Given the description of an element on the screen output the (x, y) to click on. 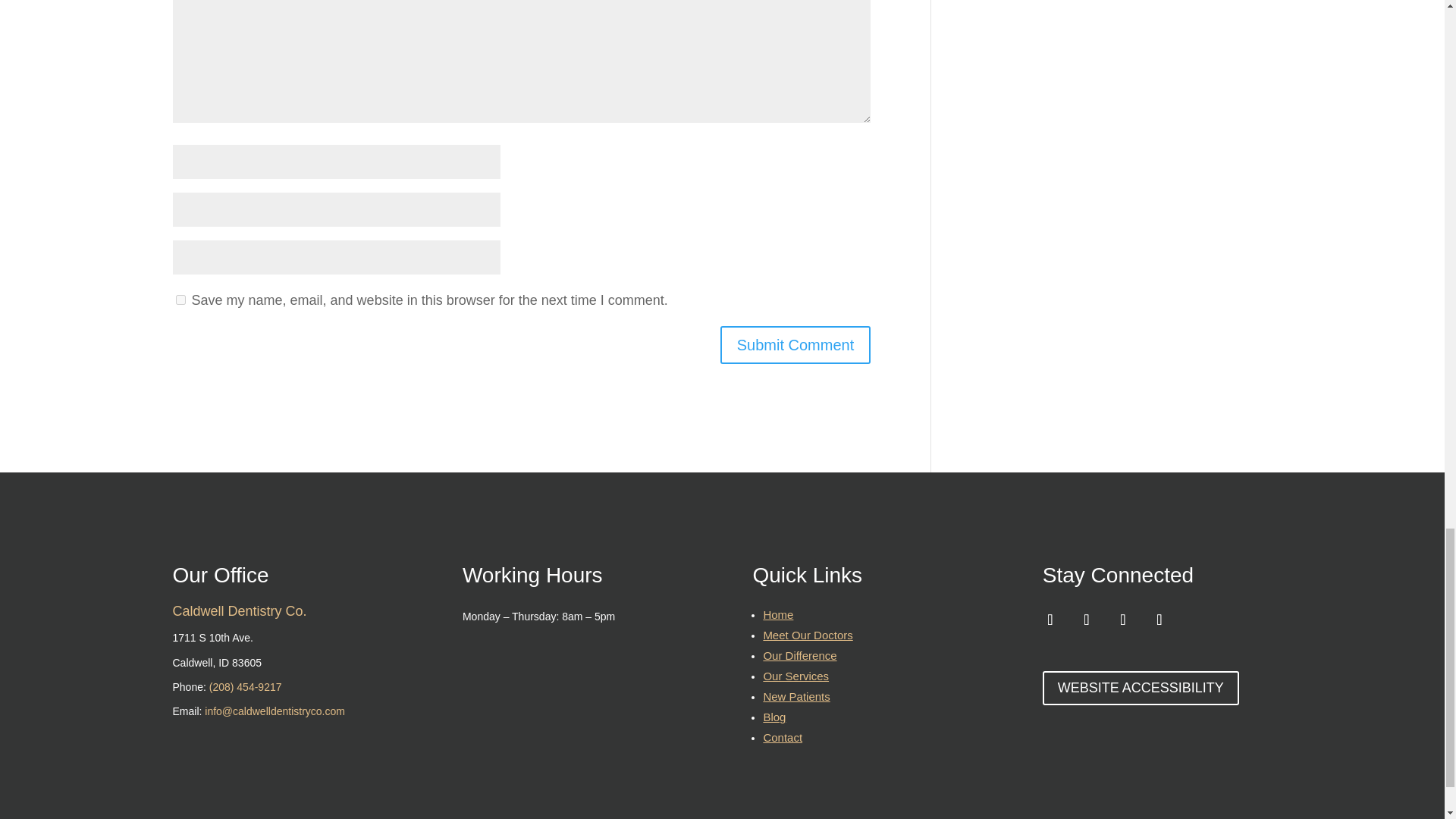
Follow on Instagram (1159, 619)
Submit Comment (795, 344)
Follow on Facebook (1050, 619)
yes (181, 299)
Follow on Youtube (1123, 619)
Follow on X (1086, 619)
Submit Comment (795, 344)
